Given the description of an element on the screen output the (x, y) to click on. 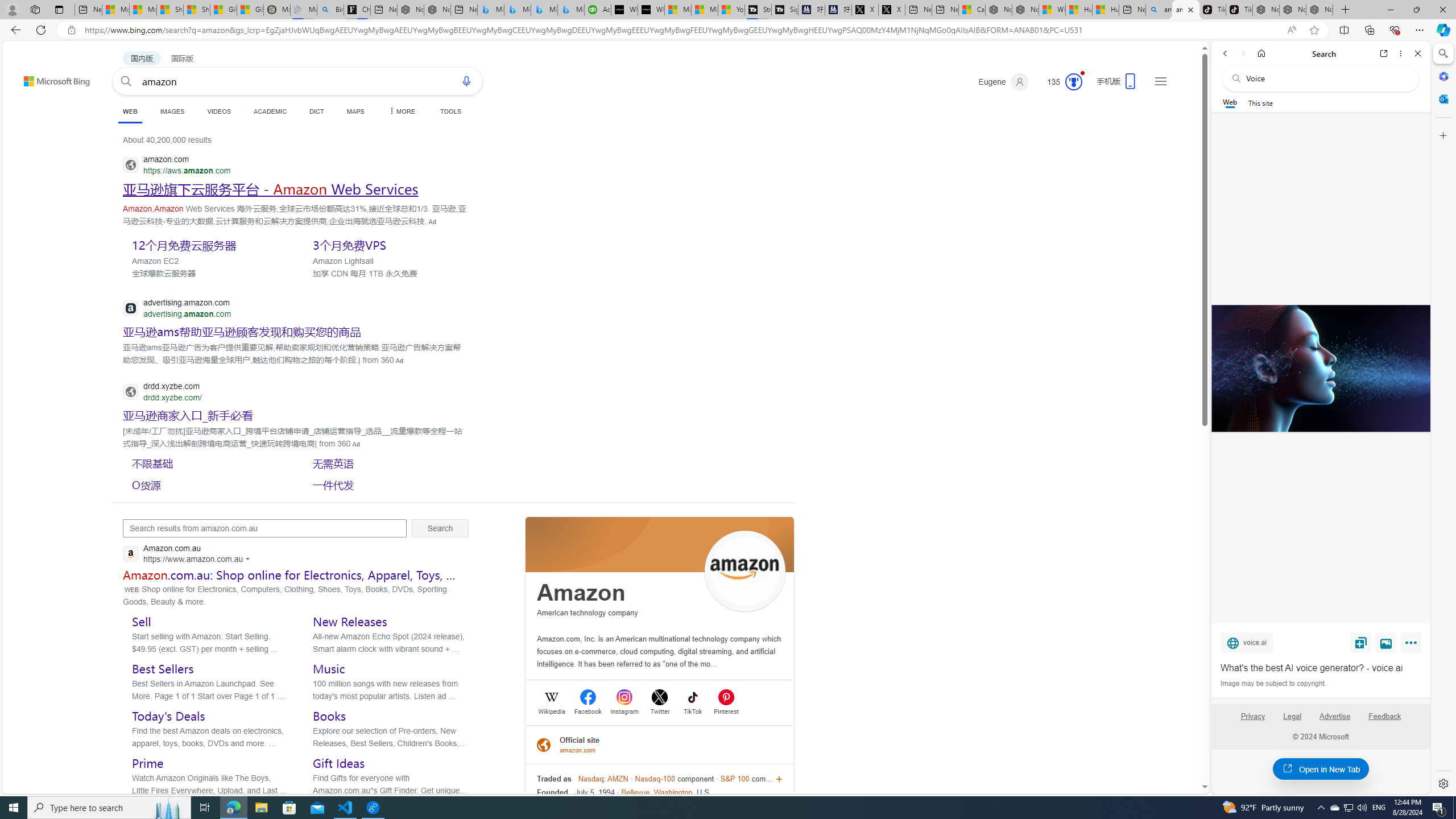
amazon - Search (1185, 9)
Nordace - Siena Pro 15 Essential Set (1319, 9)
VIDEOS (218, 111)
What's the best AI voice generator? - voice.ai (1320, 368)
Forward (1242, 53)
Nordace - Best Sellers (1265, 9)
Traded as (554, 778)
Settings and quick links (1160, 80)
Search more (1179, 753)
Microsoft Bing Travel - Stays in Bangkok, Bangkok, Thailand (517, 9)
Home (1261, 53)
